Given the description of an element on the screen output the (x, y) to click on. 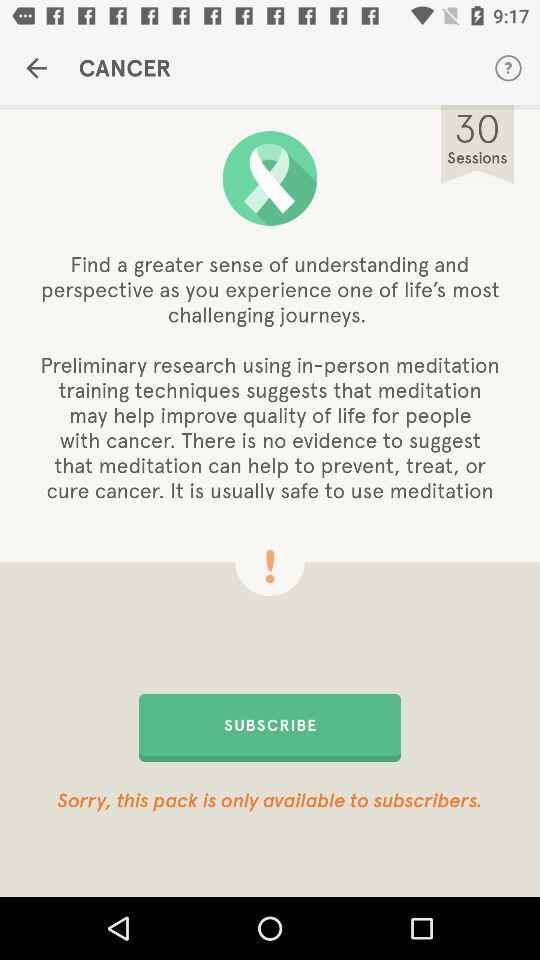
open the icon to the right of the cancer icon (508, 67)
